Given the description of an element on the screen output the (x, y) to click on. 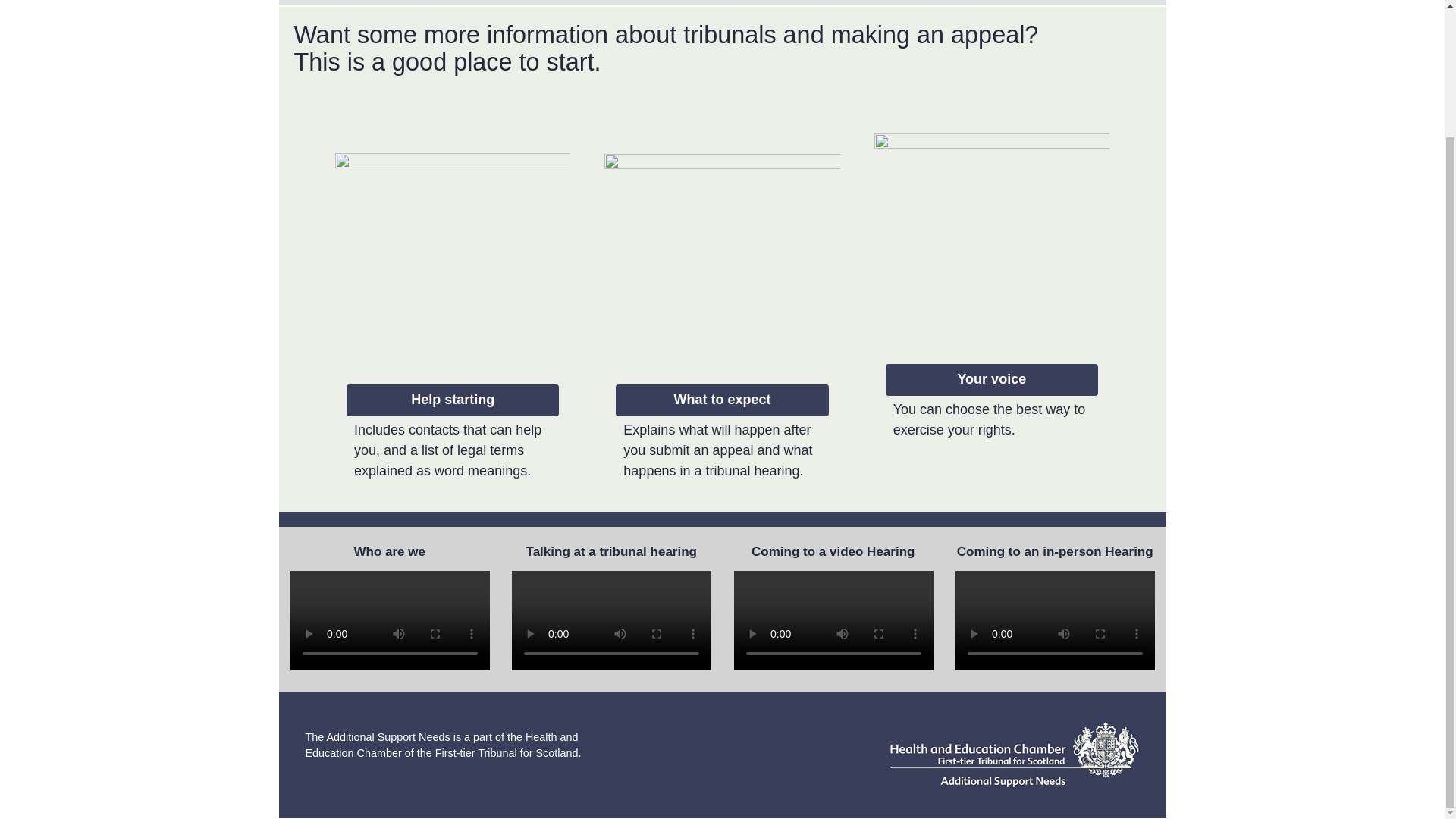
Your voice (991, 378)
Health and Education Chamber - Additional Support Needs (1013, 754)
What to expect (721, 399)
Help starting (452, 399)
Help starting (452, 399)
Your voice (991, 378)
What to expect (721, 399)
